Given the description of an element on the screen output the (x, y) to click on. 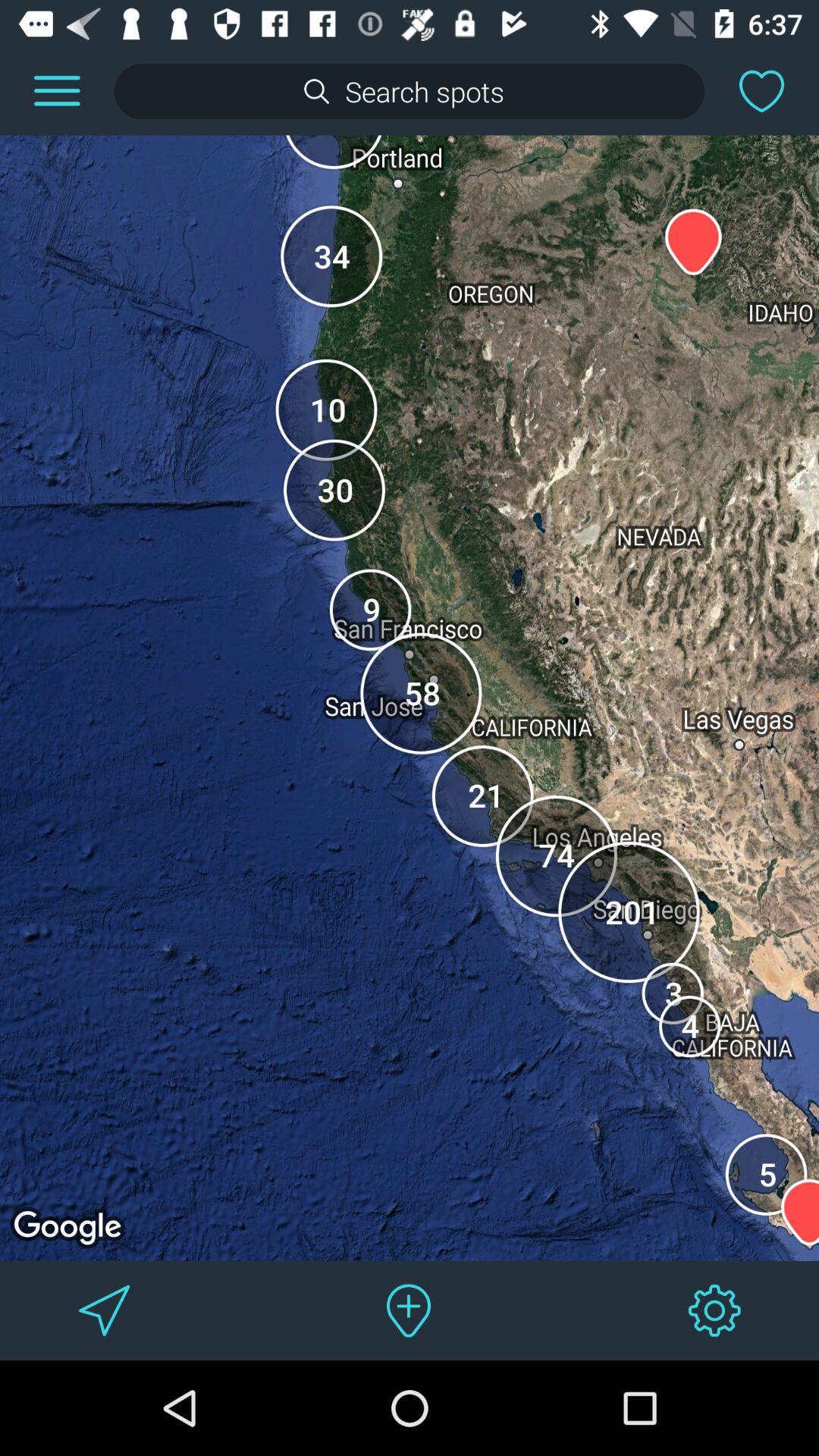
add location (408, 1310)
